Given the description of an element on the screen output the (x, y) to click on. 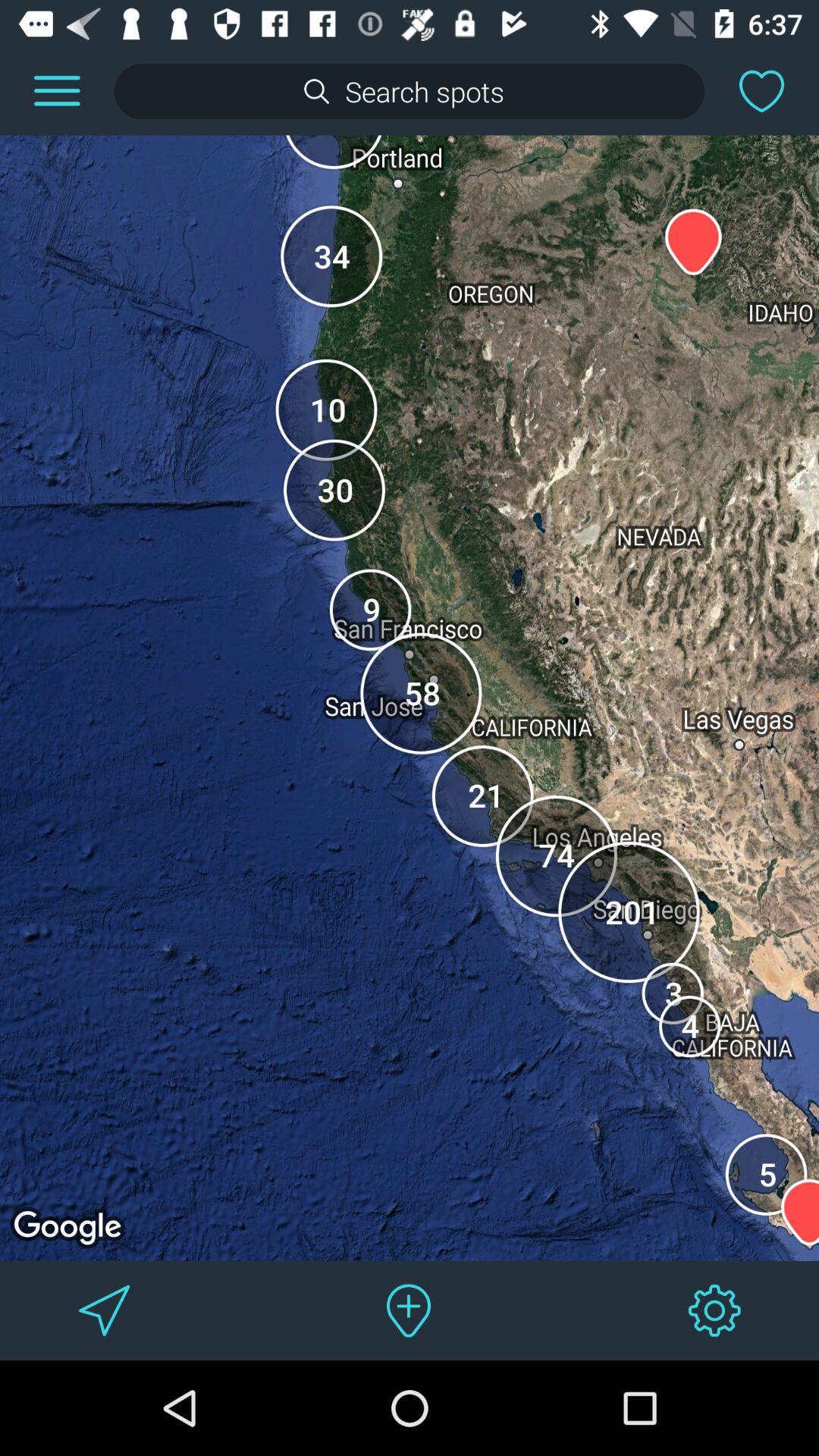
add location (408, 1310)
